Given the description of an element on the screen output the (x, y) to click on. 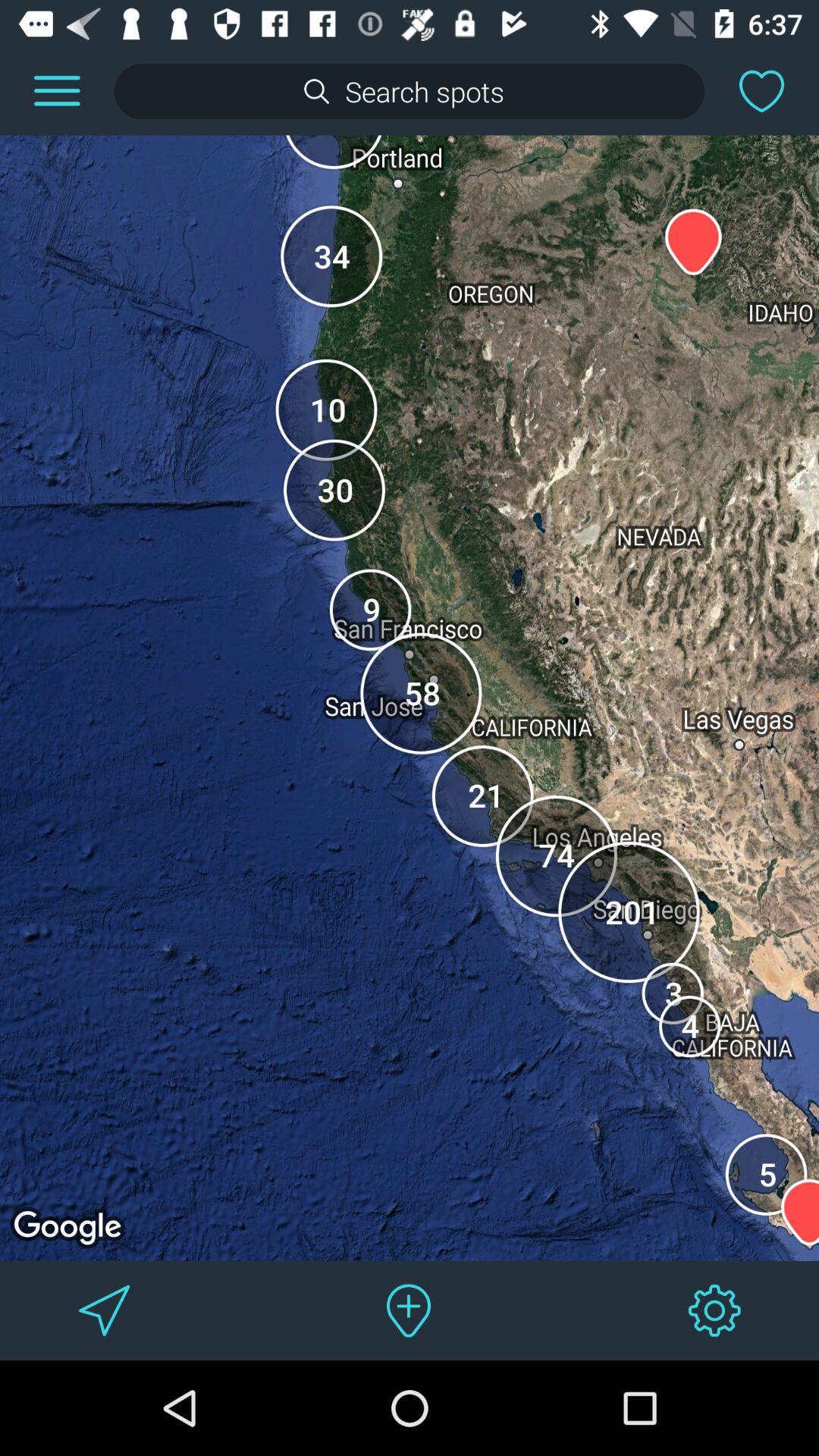
add location (408, 1310)
